Given the description of an element on the screen output the (x, y) to click on. 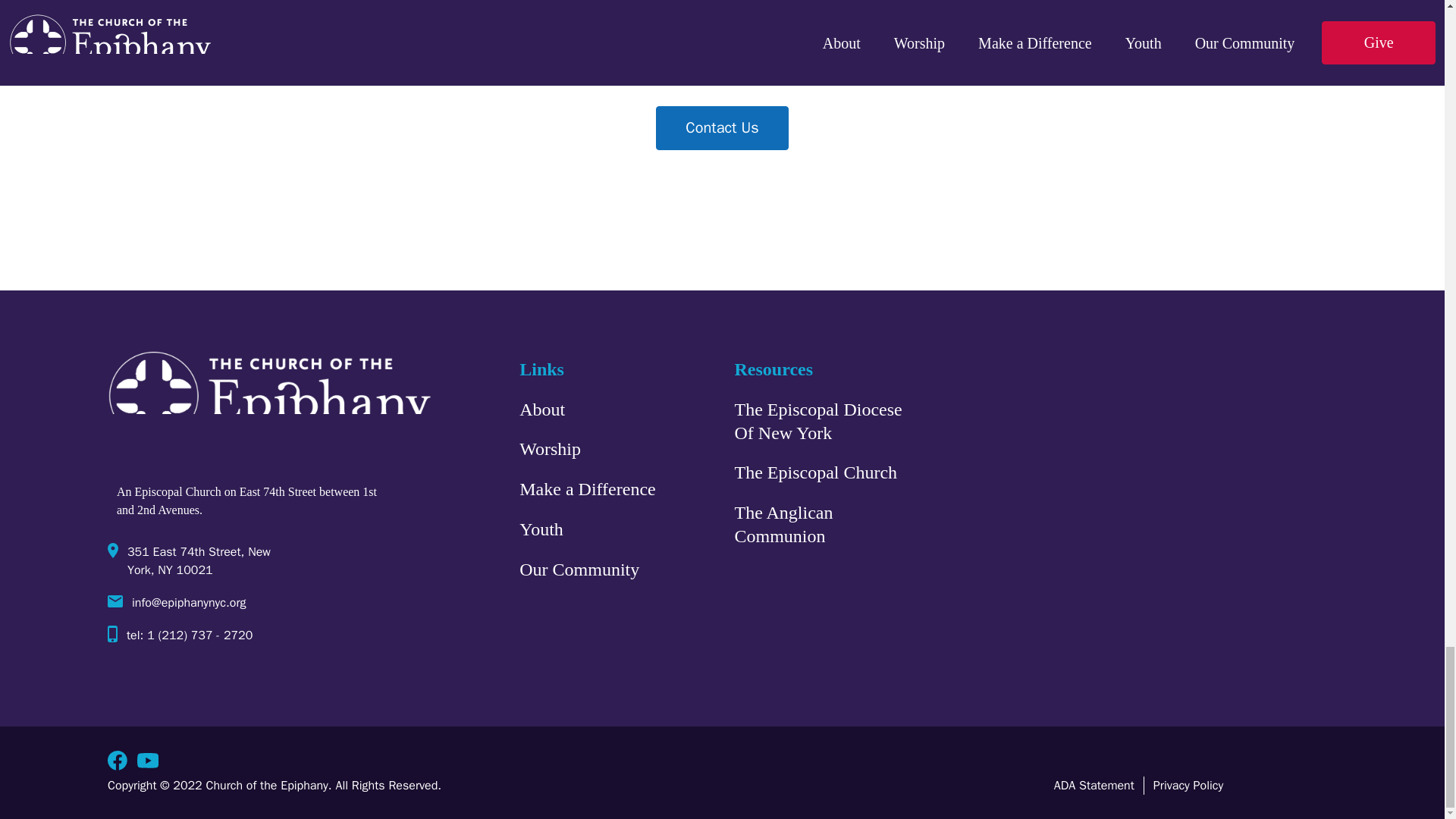
The Episcopal Church (814, 472)
The Episcopal Diocese Of New York (817, 420)
Worship (549, 449)
Make a Difference (587, 489)
Resources (772, 368)
Privacy Policy (1188, 785)
ADA Statement (1094, 785)
Our Community (579, 569)
351 East 74th Street, New York, NY 10021 (254, 565)
Youth (541, 529)
